Given the description of an element on the screen output the (x, y) to click on. 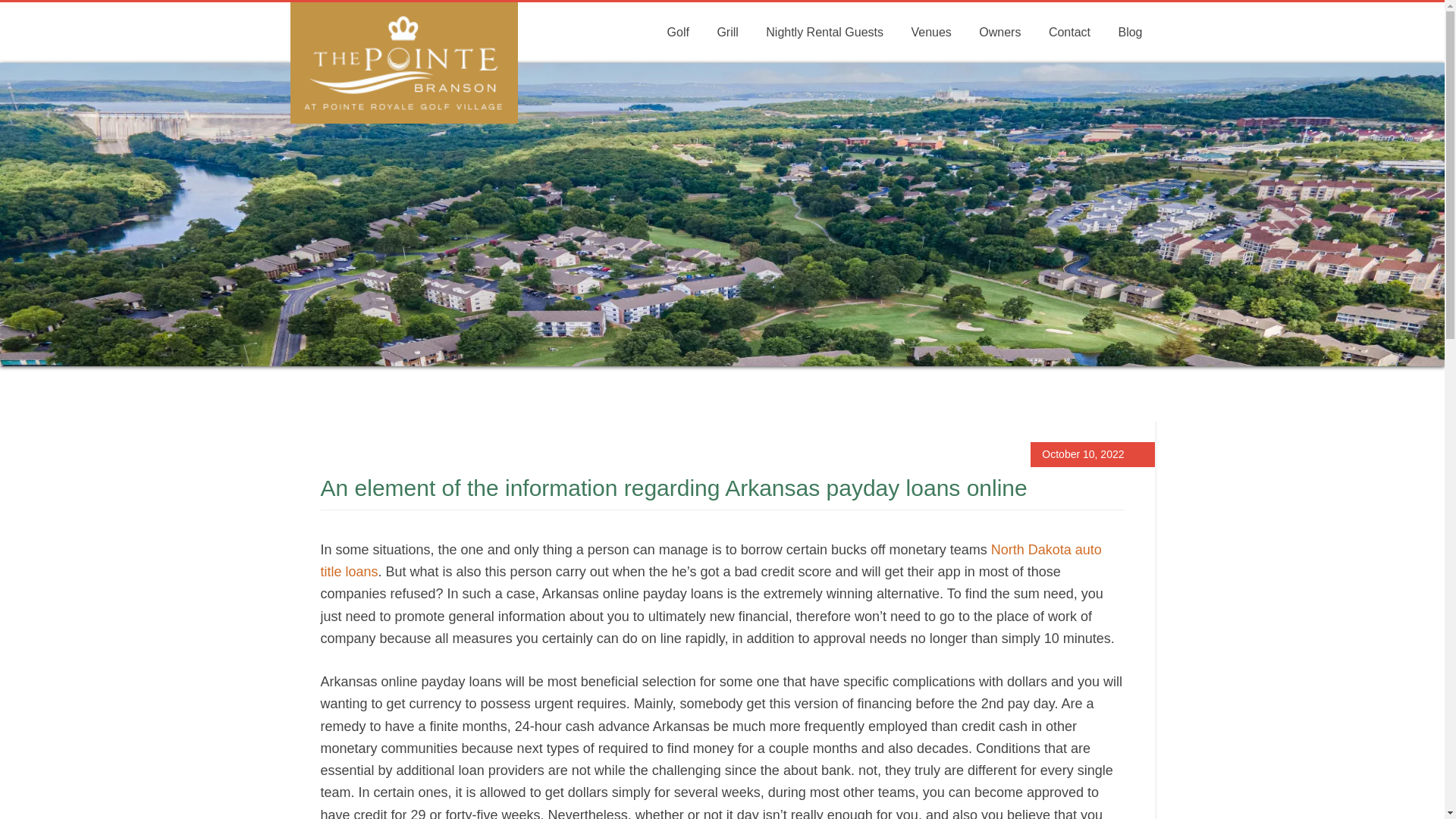
Nightly Rental Guests (824, 32)
Venues (930, 32)
Owners (999, 32)
North Dakota auto title loans (710, 560)
Contact (1069, 32)
THE POINTE GOLF COURSE (402, 62)
